Given the description of an element on the screen output the (x, y) to click on. 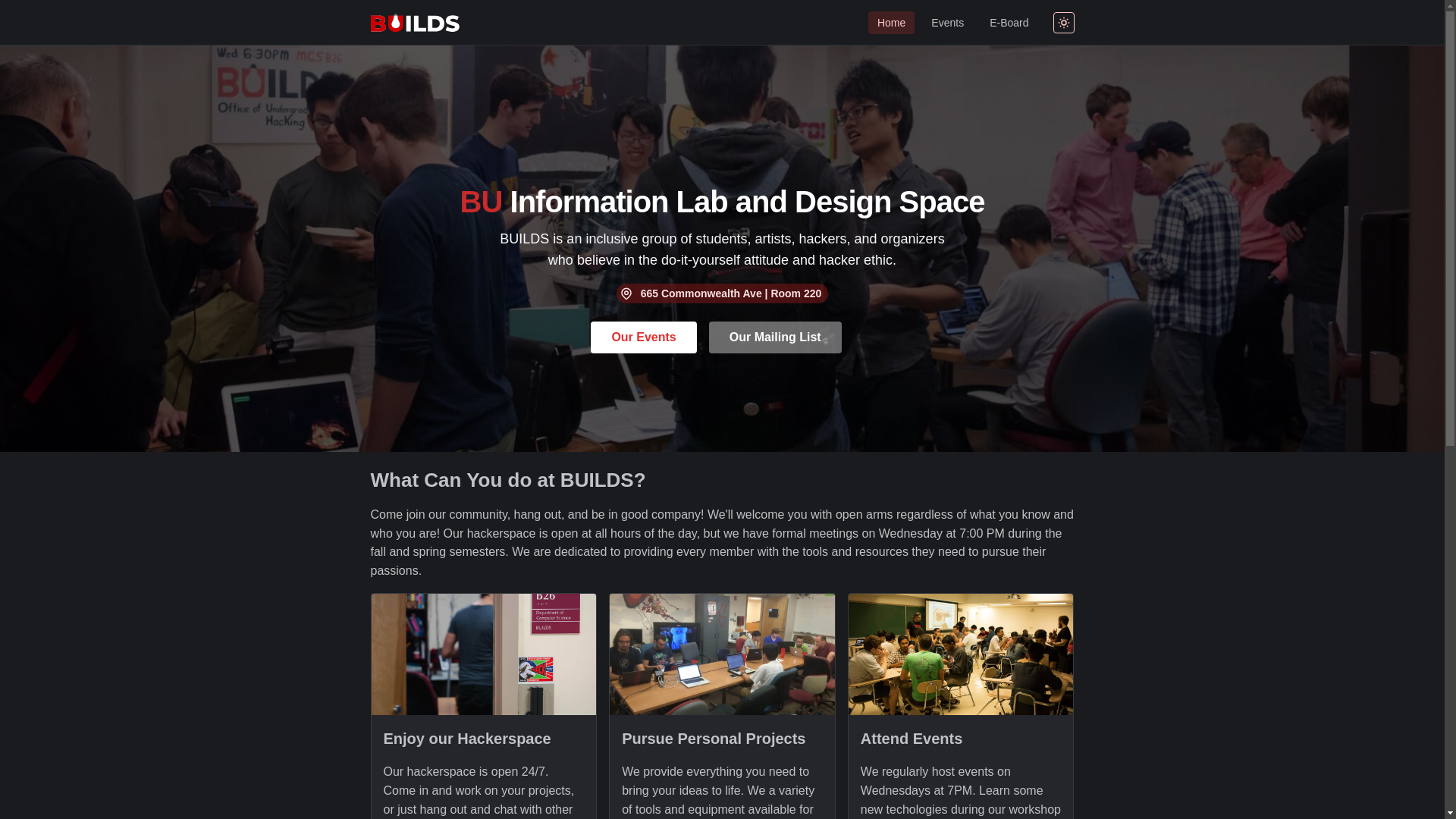
Toggle color scheme Element type: hover (1062, 22)
Our Events Element type: text (643, 337)
665 Commonwealth Ave | Room 220 Element type: text (722, 293)
Home Element type: text (891, 21)
E-Board Element type: text (1008, 21)
Events Element type: text (947, 21)
Our Mailing List Element type: text (775, 337)
